Given the description of an element on the screen output the (x, y) to click on. 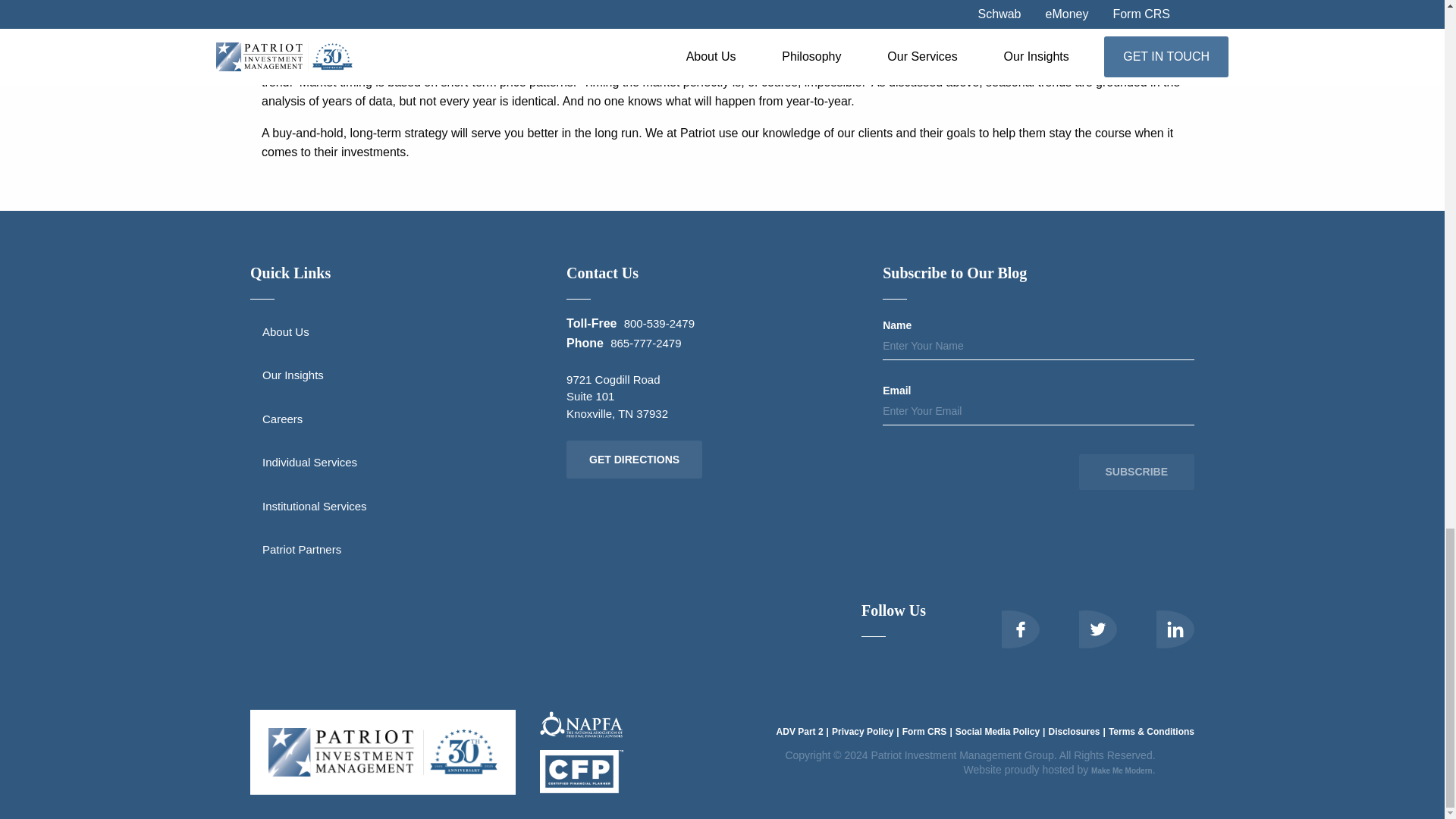
Social Media Policy (1001, 731)
Subscribe (1135, 471)
Privacy Policy (866, 731)
Link to linkedin. (1162, 629)
Institutional Services (406, 505)
Link to twitter. (1085, 629)
Disclosures (1078, 731)
Web Design in Knoxville, TN (1121, 770)
865-777-2479 (645, 342)
Our Insights (406, 375)
